Given the description of an element on the screen output the (x, y) to click on. 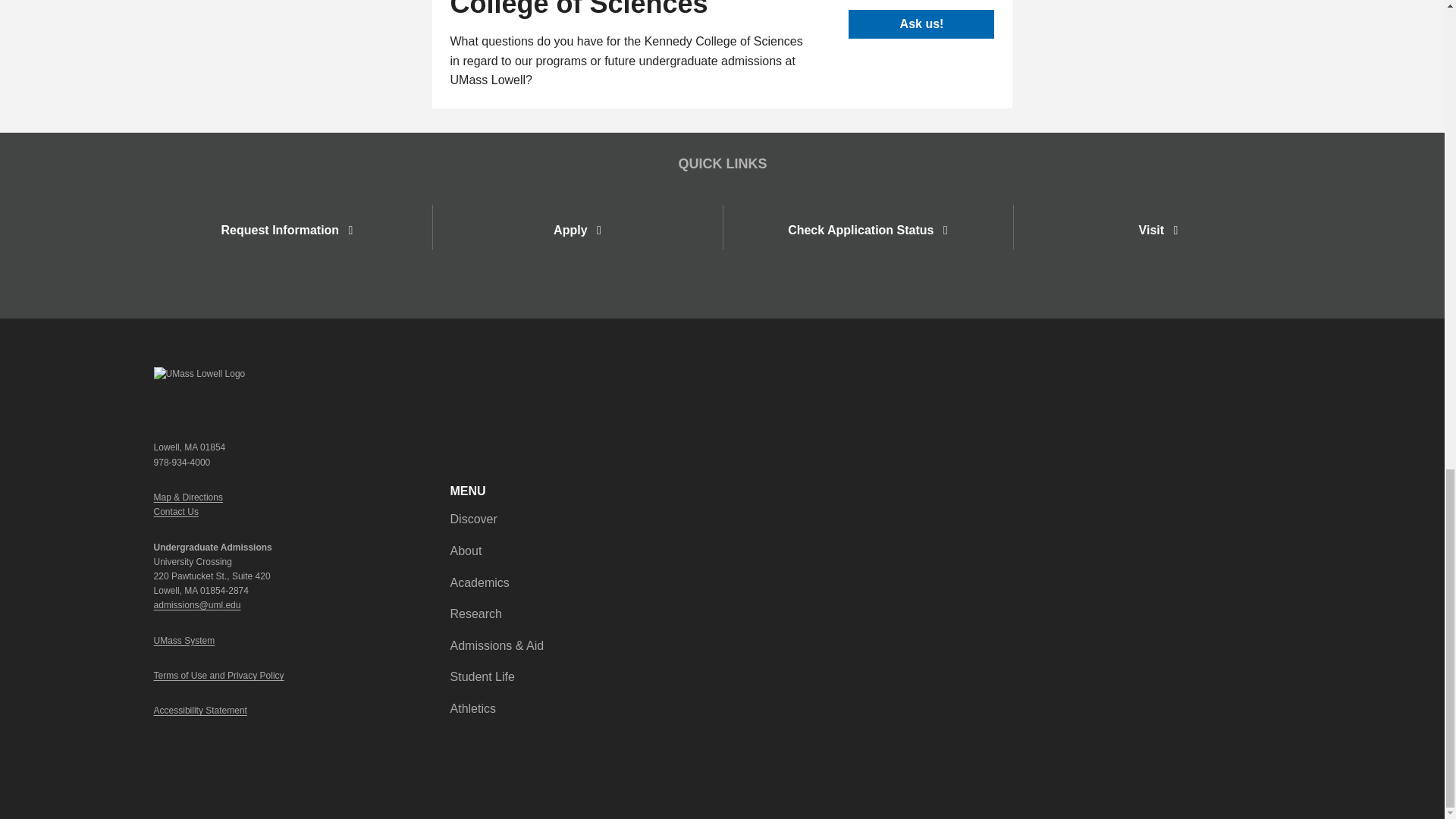
Ask us! (921, 23)
